Given the description of an element on the screen output the (x, y) to click on. 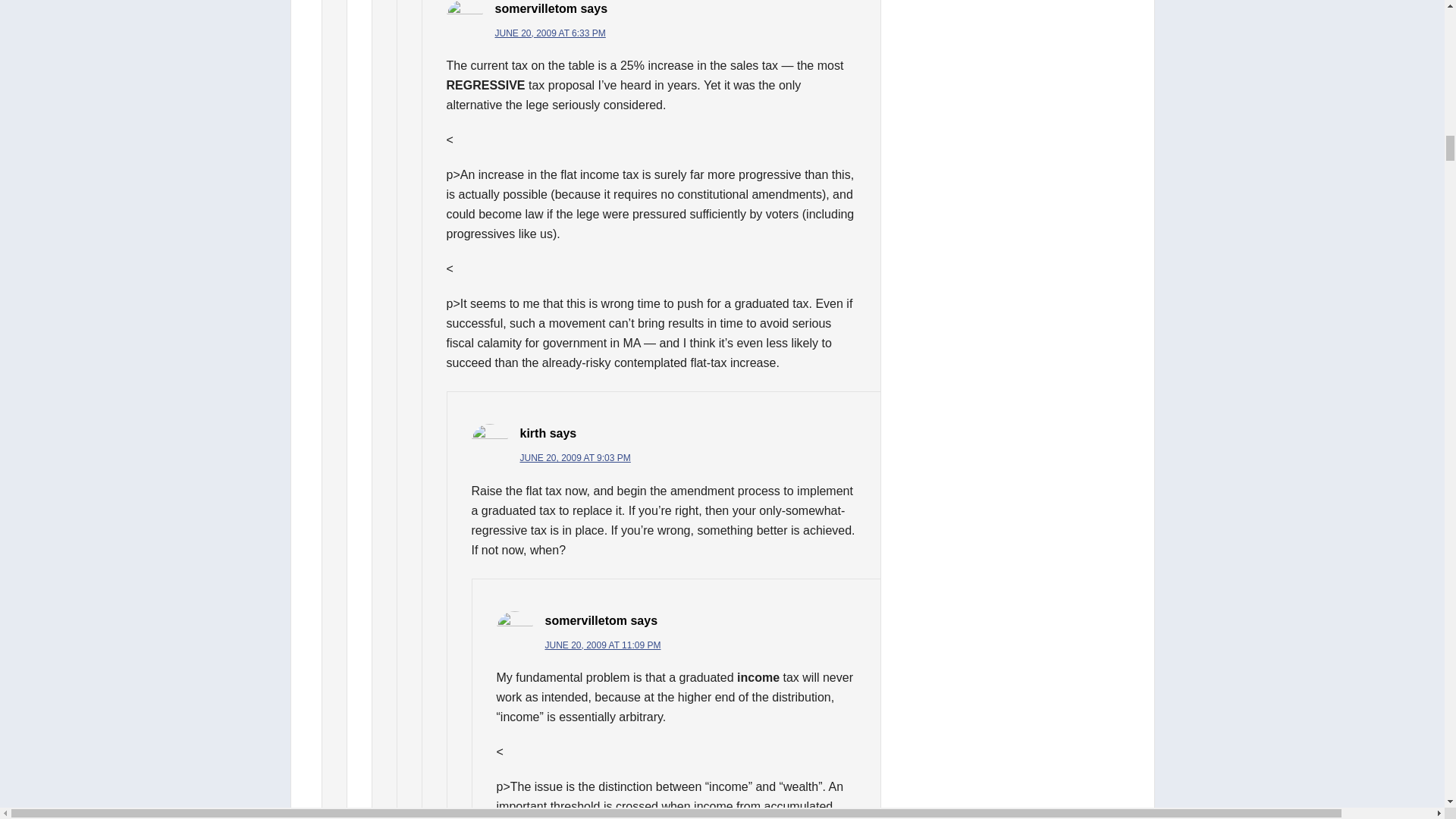
JUNE 20, 2009 AT 11:09 PM (602, 644)
JUNE 20, 2009 AT 9:03 PM (574, 457)
JUNE 20, 2009 AT 6:33 PM (550, 32)
